Given the description of an element on the screen output the (x, y) to click on. 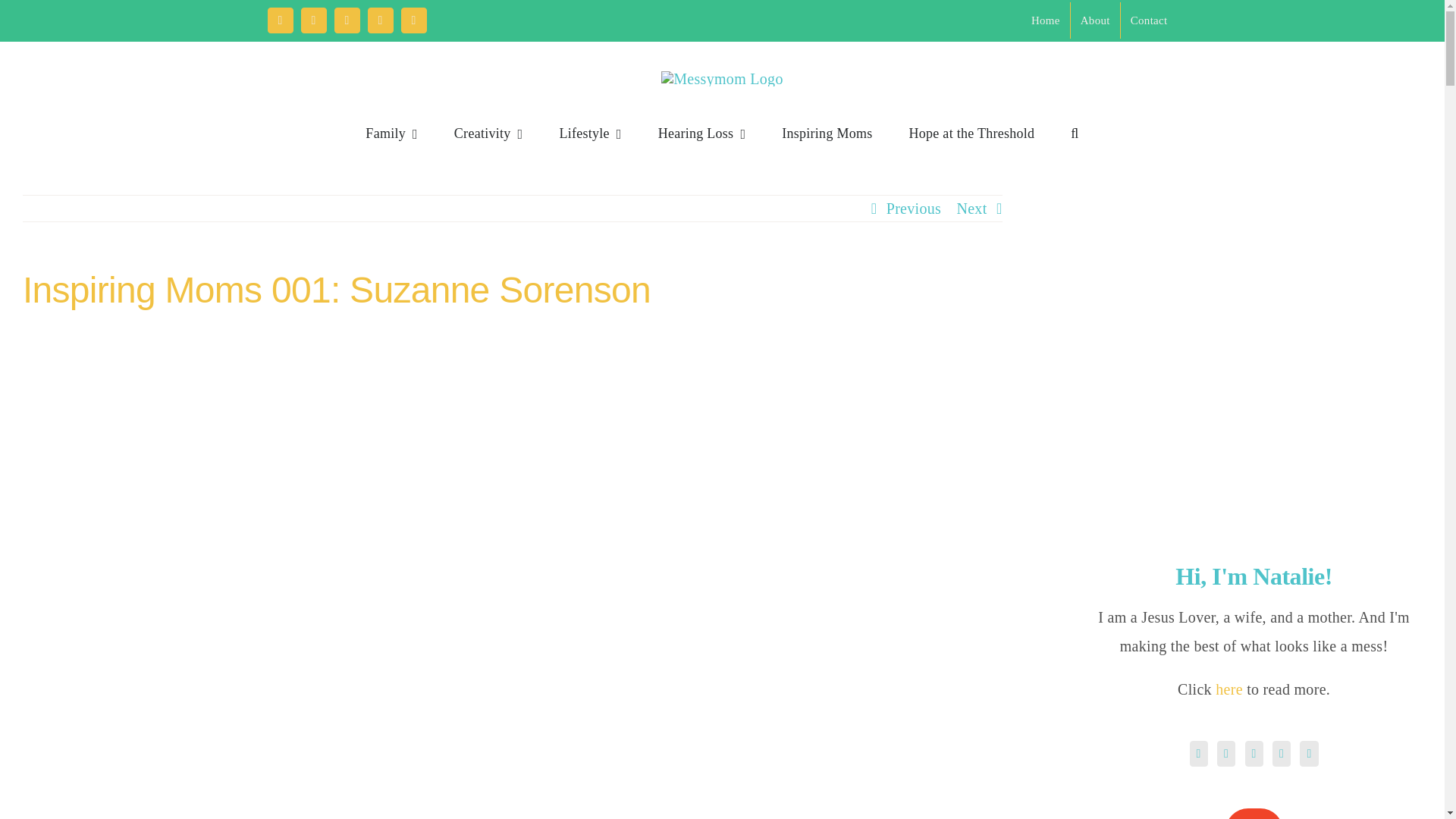
Search (1074, 132)
About (1094, 20)
Pinterest (379, 20)
Inspiring Moms (825, 132)
Hope at the Threshold (971, 132)
Tiktok (413, 20)
Facebook (279, 20)
X (312, 20)
Next (971, 208)
Instagram (346, 20)
